Given the description of an element on the screen output the (x, y) to click on. 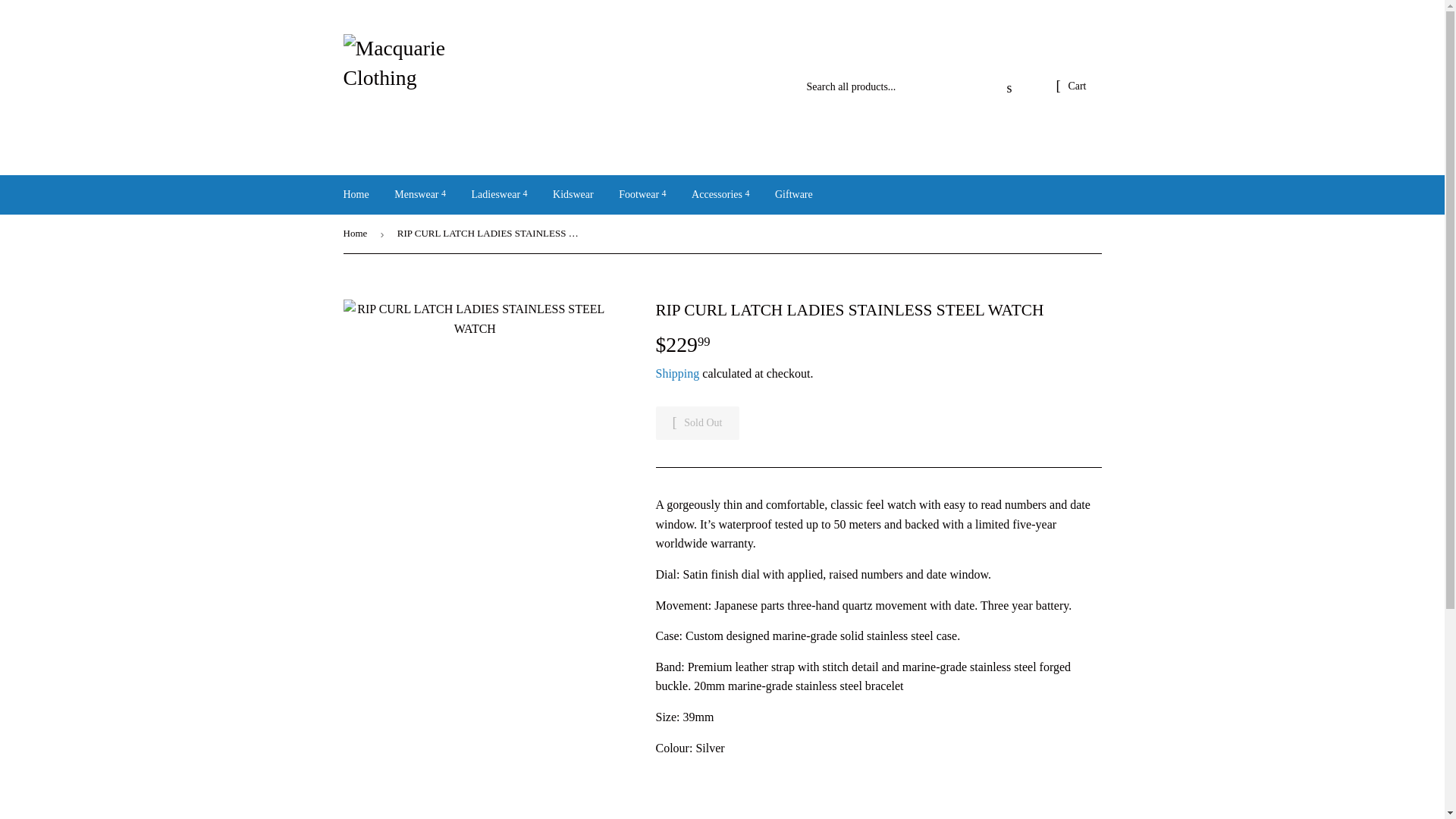
Cart (1071, 87)
Ladieswear (499, 194)
Search (1009, 88)
Home (355, 194)
Menswear (419, 194)
